Given the description of an element on the screen output the (x, y) to click on. 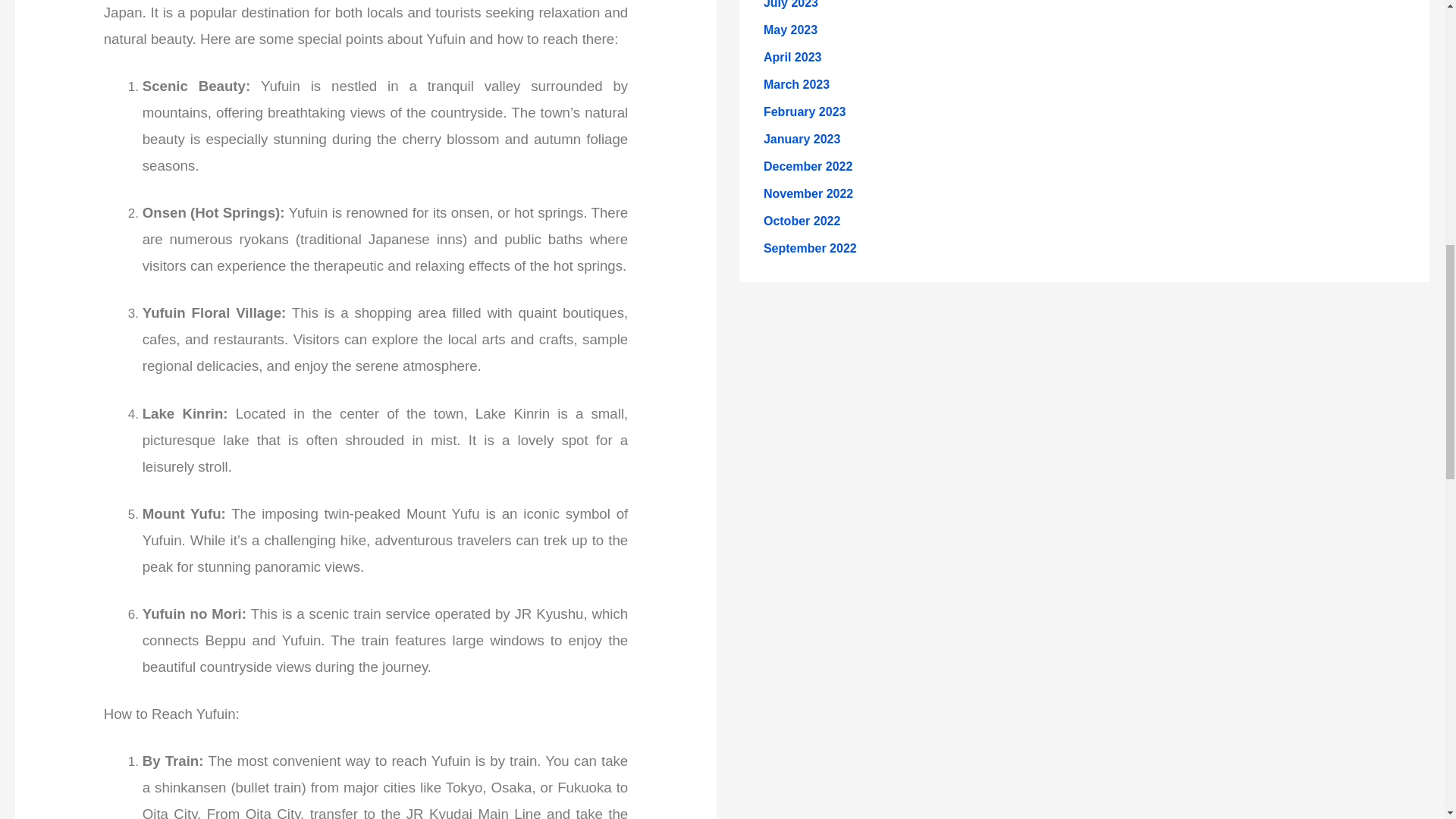
January 2023 (801, 138)
April 2023 (791, 56)
February 2023 (803, 111)
July 2023 (790, 4)
May 2023 (789, 29)
March 2023 (795, 83)
